Given the description of an element on the screen output the (x, y) to click on. 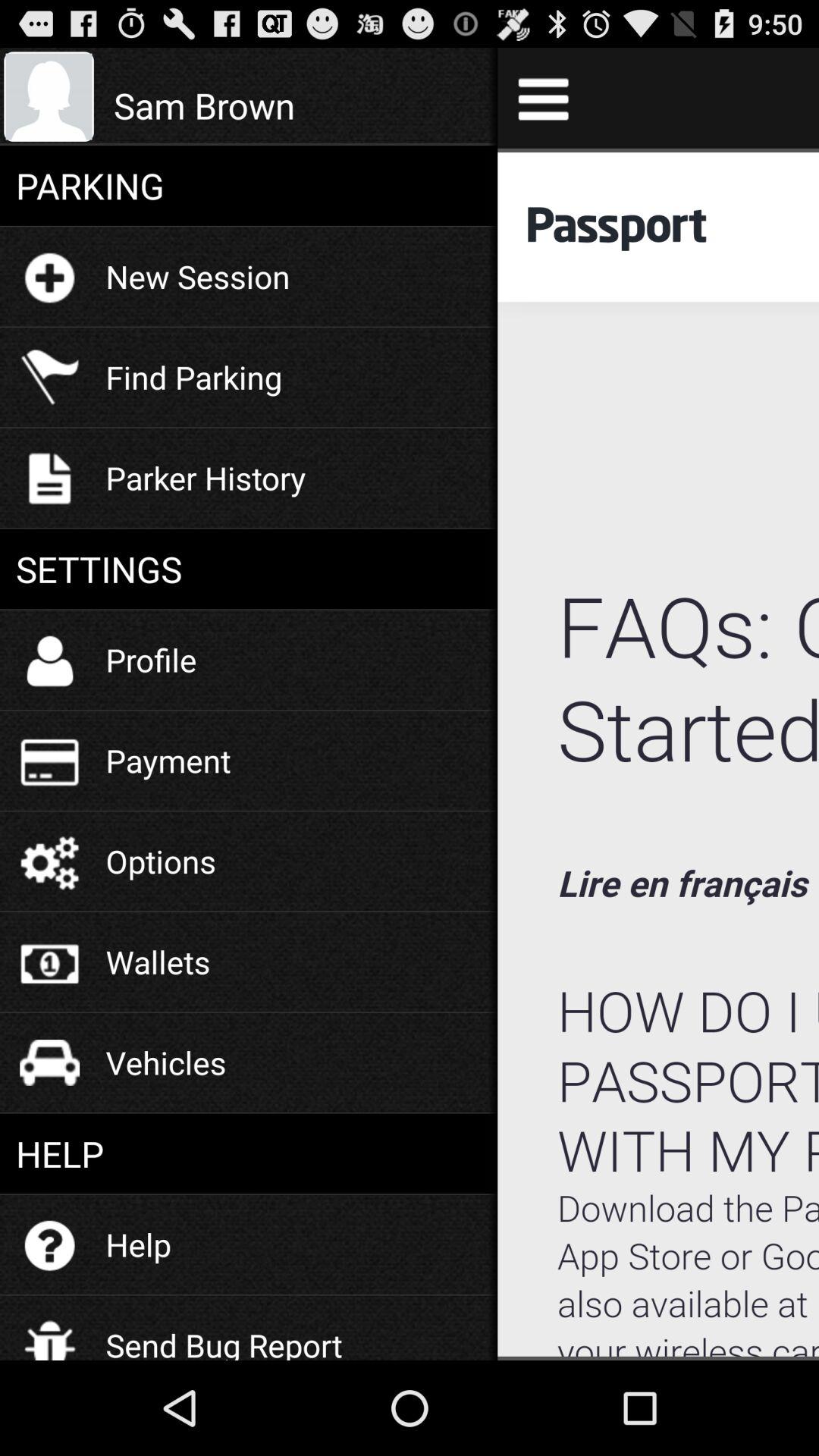
scroll to the settings item (248, 568)
